Given the description of an element on the screen output the (x, y) to click on. 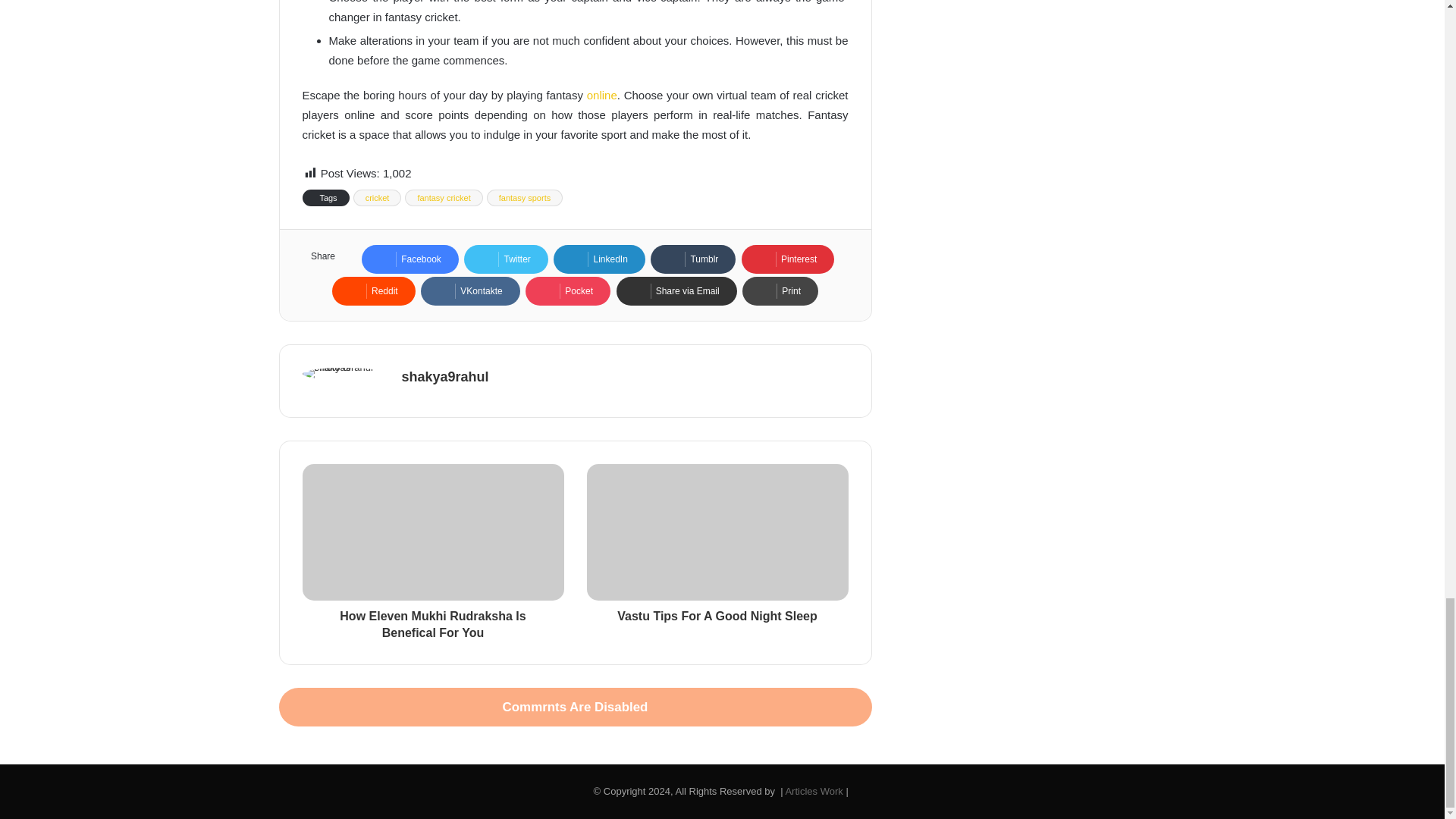
cricket (377, 197)
online (601, 94)
fantasy cricket (442, 197)
